Given the description of an element on the screen output the (x, y) to click on. 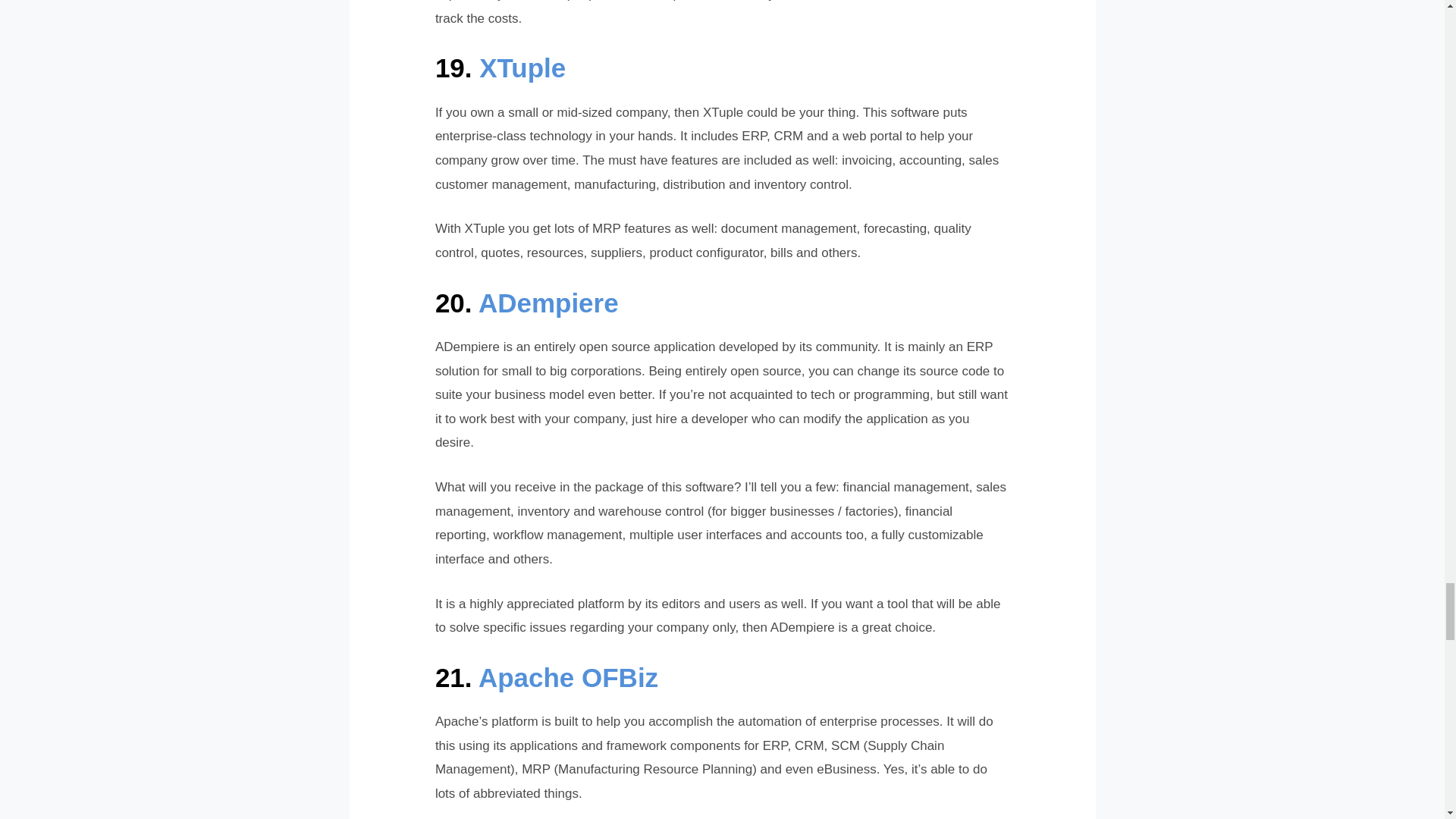
ADempiere (548, 302)
XTuple (522, 67)
